Given the description of an element on the screen output the (x, y) to click on. 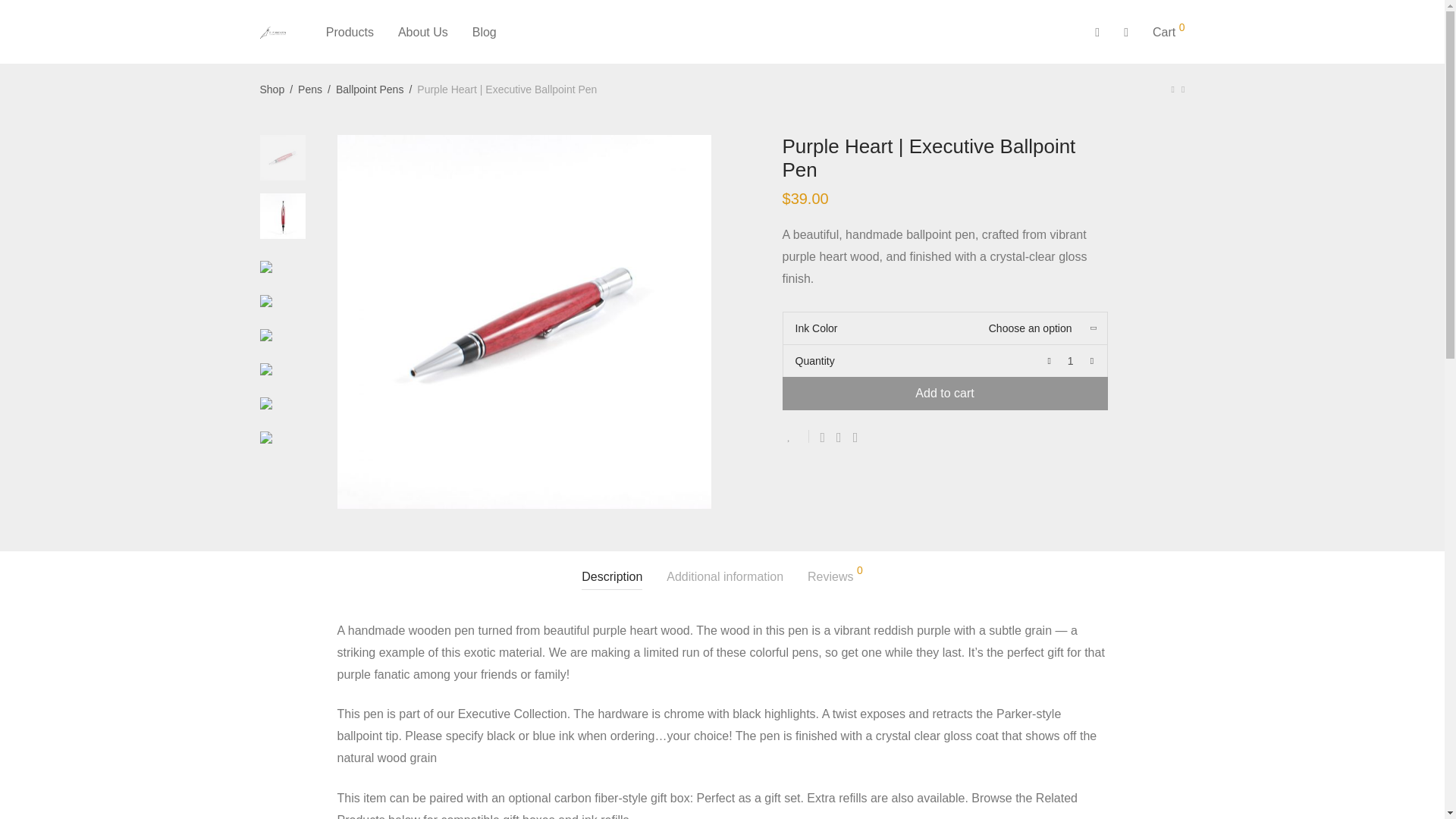
Blog (484, 32)
Shop (271, 88)
Products (349, 32)
Cart 0 (1168, 32)
Description (611, 577)
Add to Wishlist (796, 436)
Ballpoint Pens (370, 88)
Additional information (724, 577)
Add to cart (945, 393)
Pens (309, 88)
About Us (422, 32)
